Given the description of an element on the screen output the (x, y) to click on. 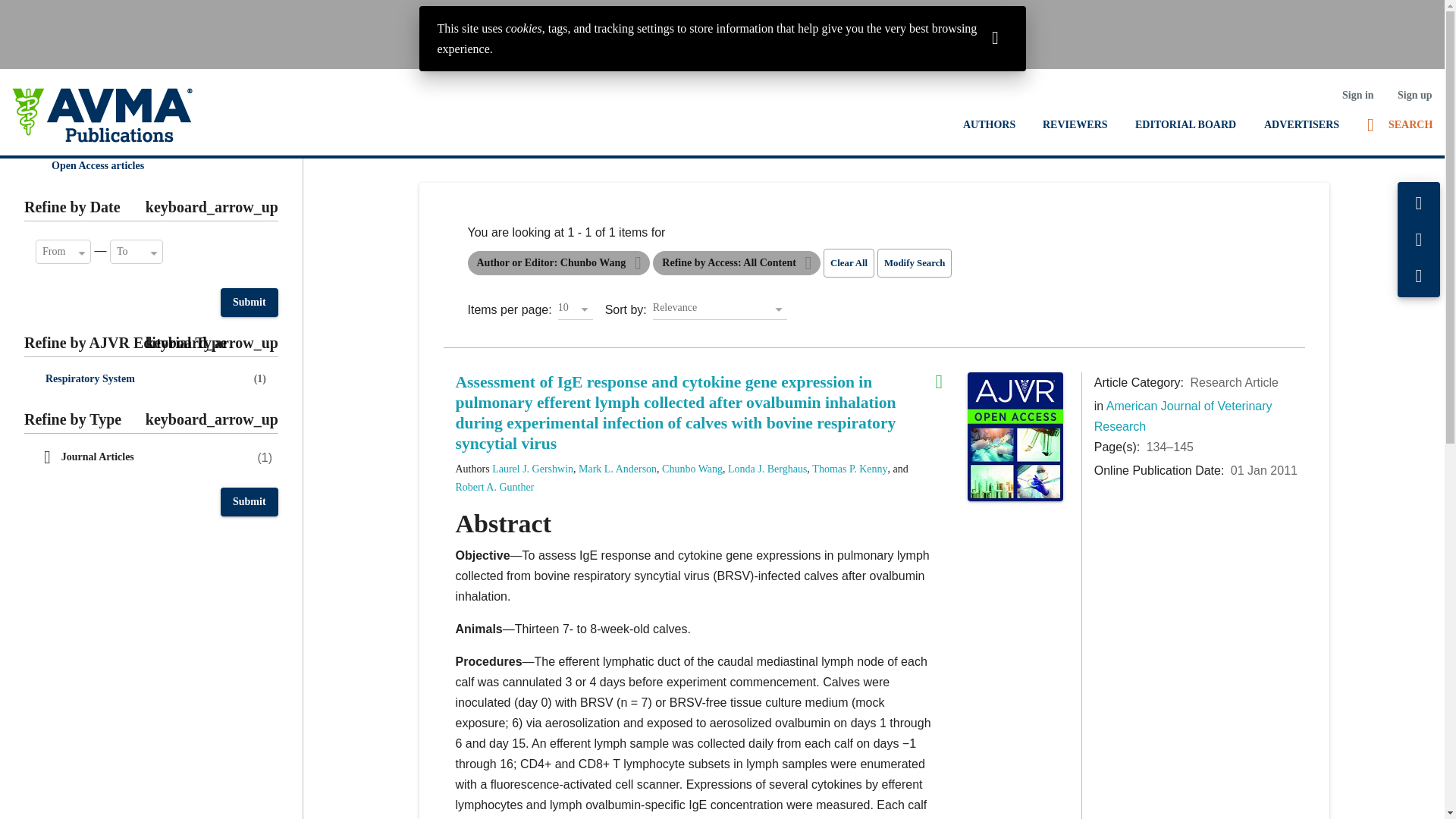
AUTHORS (988, 124)
Sign in (1358, 95)
Jump to Content (45, 11)
Dismiss this warning (994, 37)
